Given the description of an element on the screen output the (x, y) to click on. 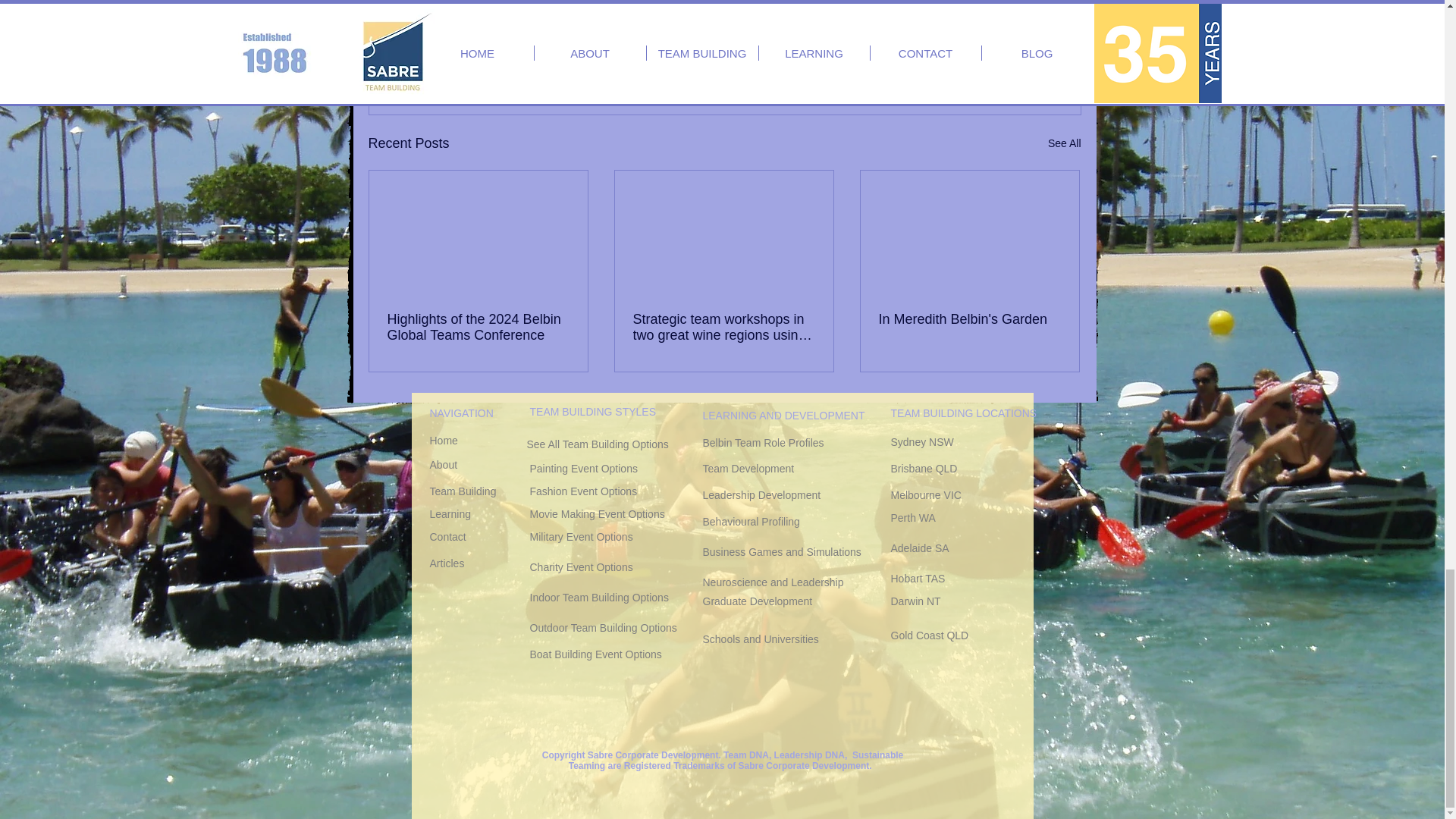
See All (1064, 143)
Highlights of the 2024 Belbin Global Teams Conference (478, 327)
